Given the description of an element on the screen output the (x, y) to click on. 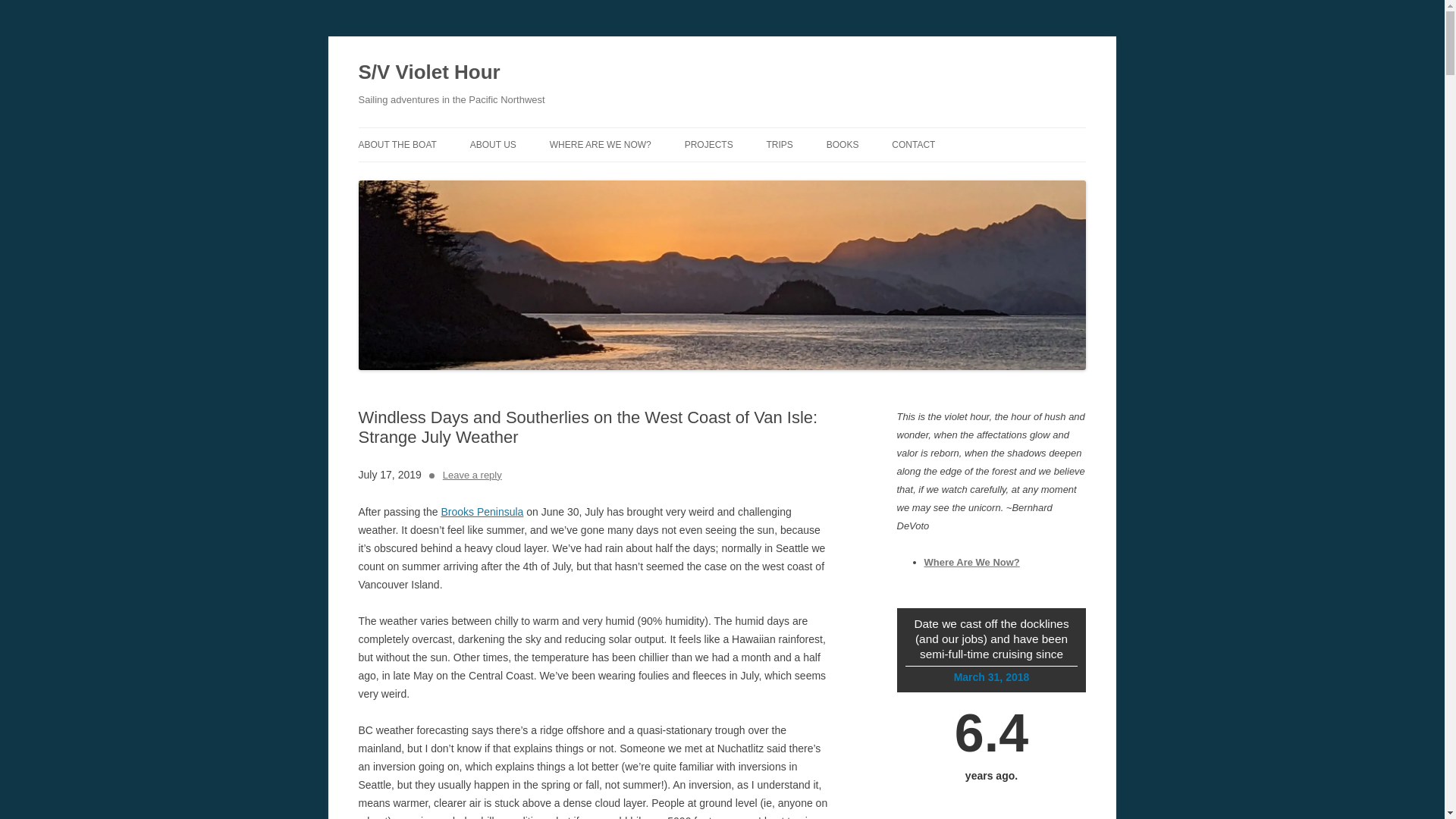
Brooks Peninsula (481, 511)
ABOUT THE BOAT (396, 144)
CONTACT (912, 144)
BOOKS (843, 144)
Leave a reply (472, 474)
Where Are We Now? (971, 562)
ABOUT US (493, 144)
Cruising Guides and Books We Use Onboard (843, 144)
WHERE ARE WE NOW? (600, 144)
